Given the description of an element on the screen output the (x, y) to click on. 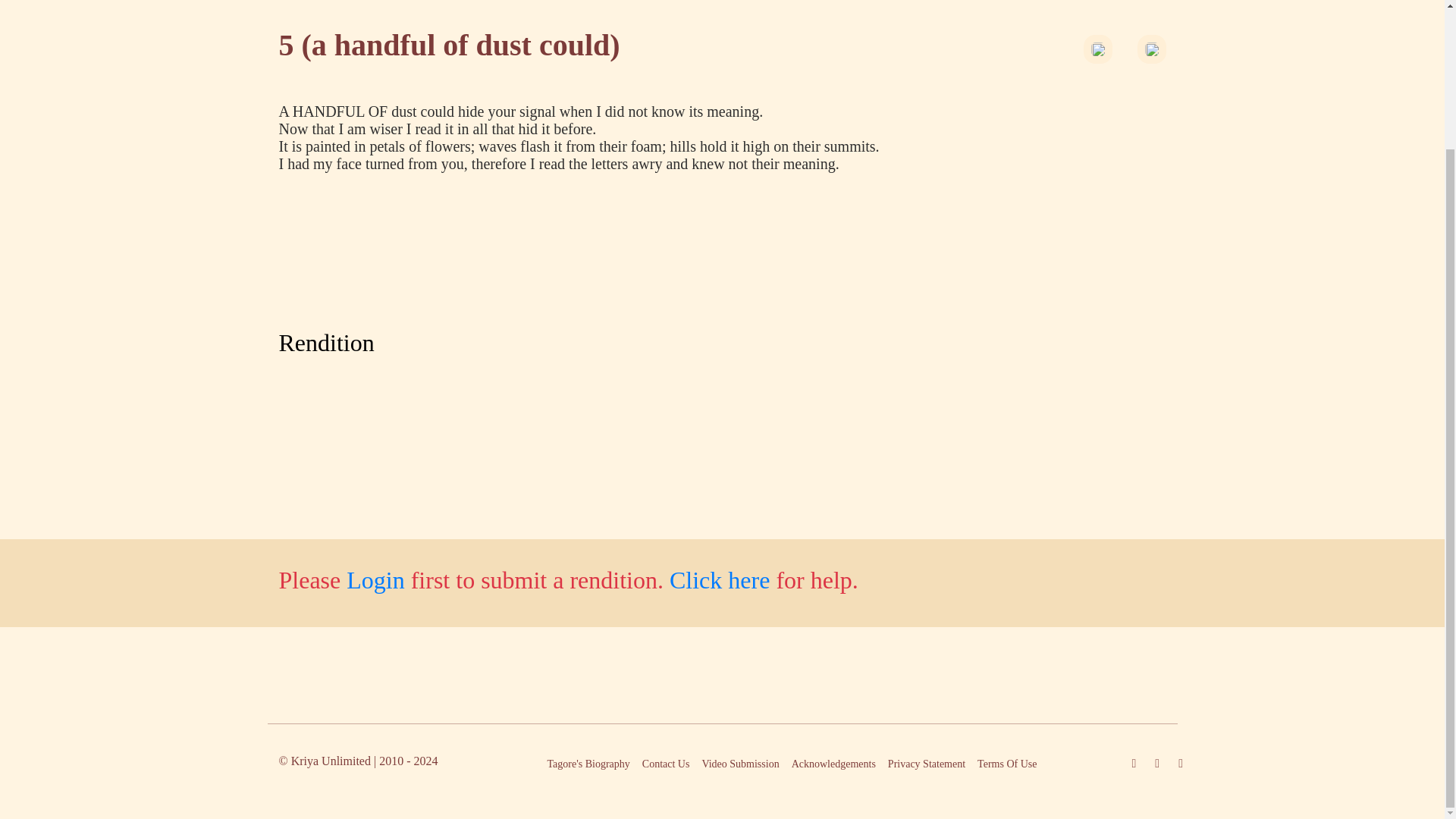
Login (375, 579)
Click here (719, 579)
